Given the description of an element on the screen output the (x, y) to click on. 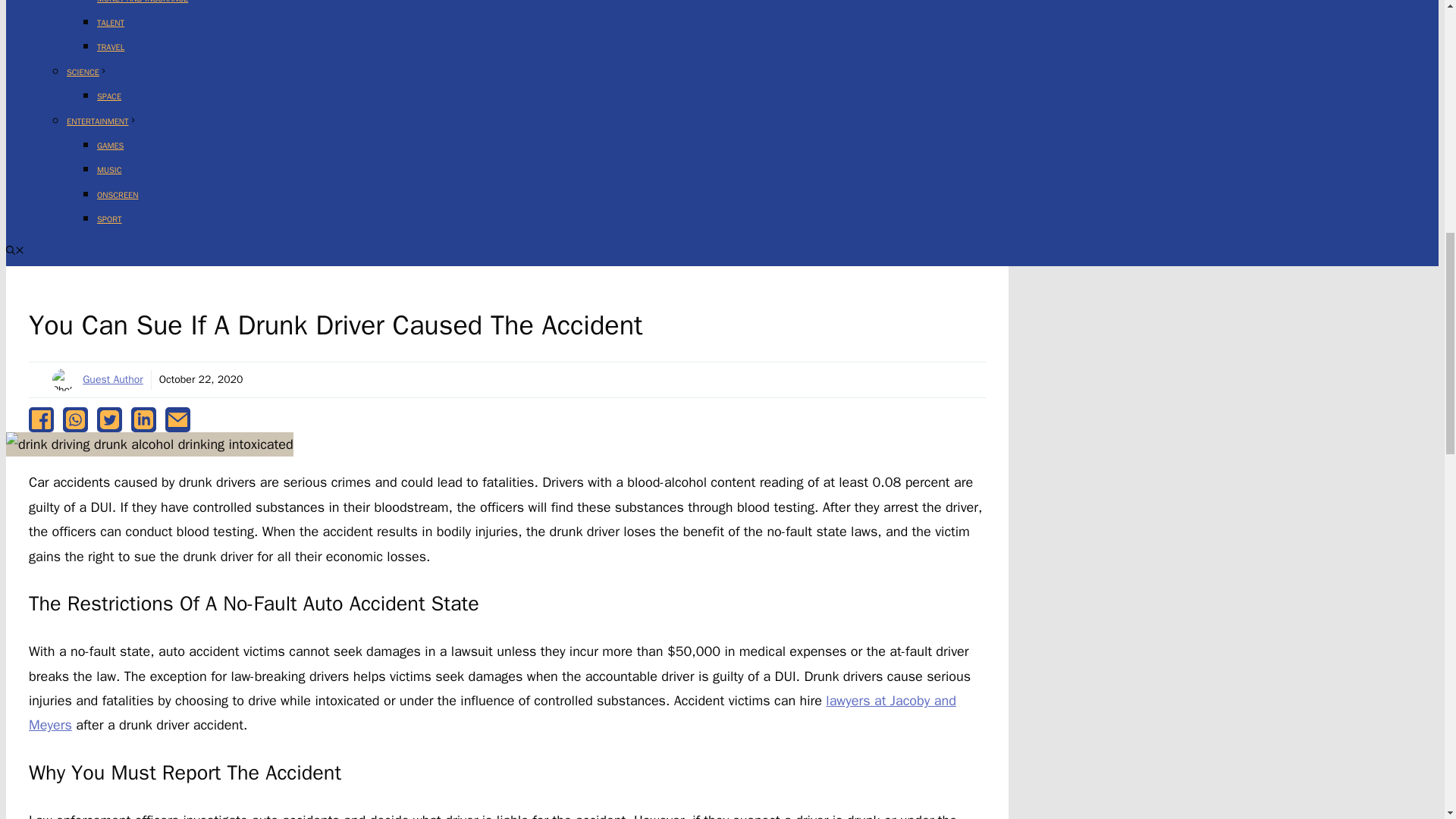
ENTERTAINMENT (101, 121)
TALENT (110, 22)
MUSIC (109, 169)
SCIENCE (86, 71)
GAMES (110, 145)
MONEY AND INSURANCE (142, 2)
TRAVEL (110, 46)
SPACE (108, 95)
